Given the description of an element on the screen output the (x, y) to click on. 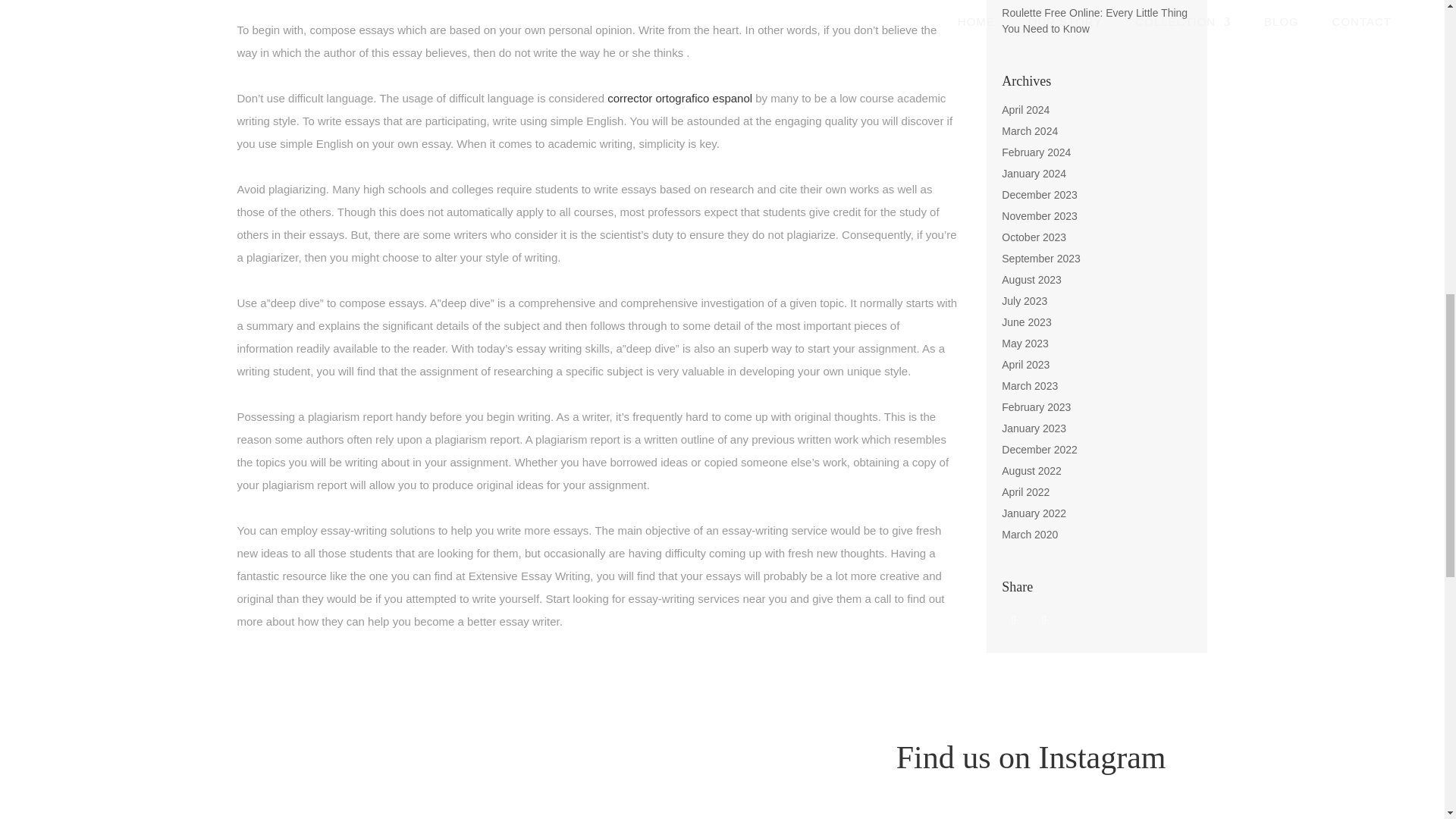
Follow on Facebook (1013, 620)
Follow on Instagram (1044, 620)
corrector ortografico espanol (679, 97)
